Given the description of an element on the screen output the (x, y) to click on. 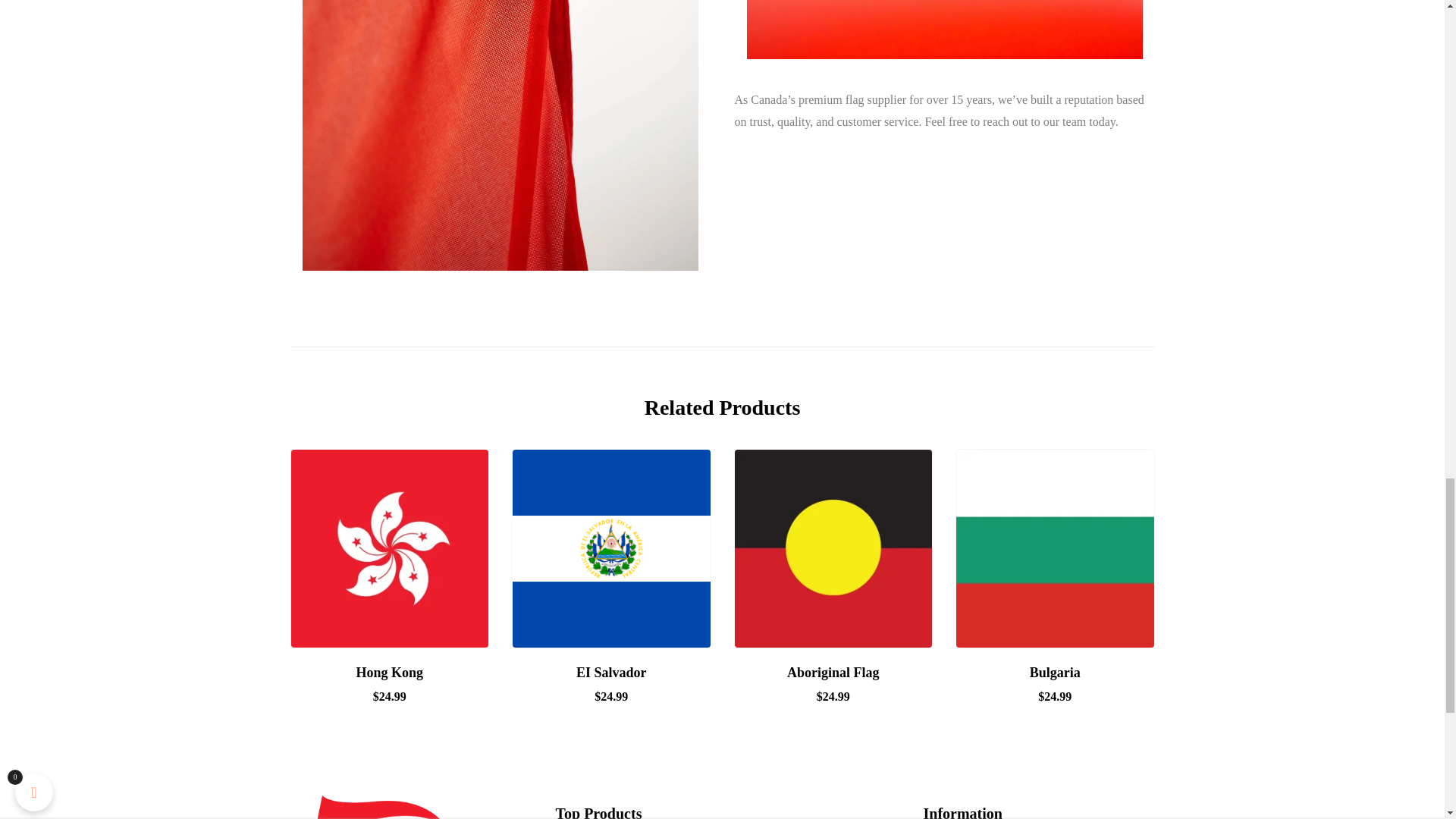
DSC03869 (943, 29)
